Given the description of an element on the screen output the (x, y) to click on. 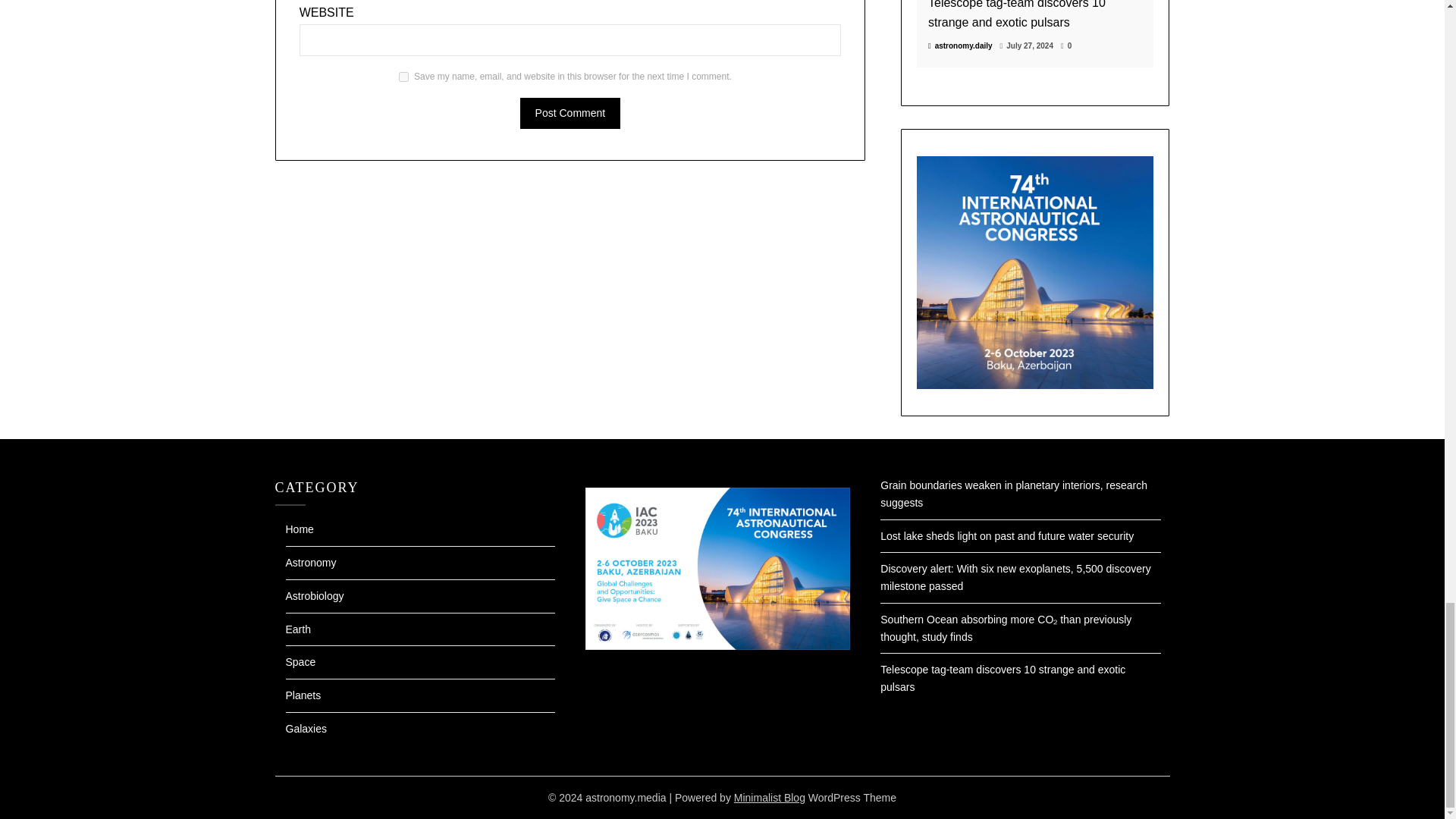
Post Comment (570, 112)
Post Comment (570, 112)
yes (403, 76)
